Given the description of an element on the screen output the (x, y) to click on. 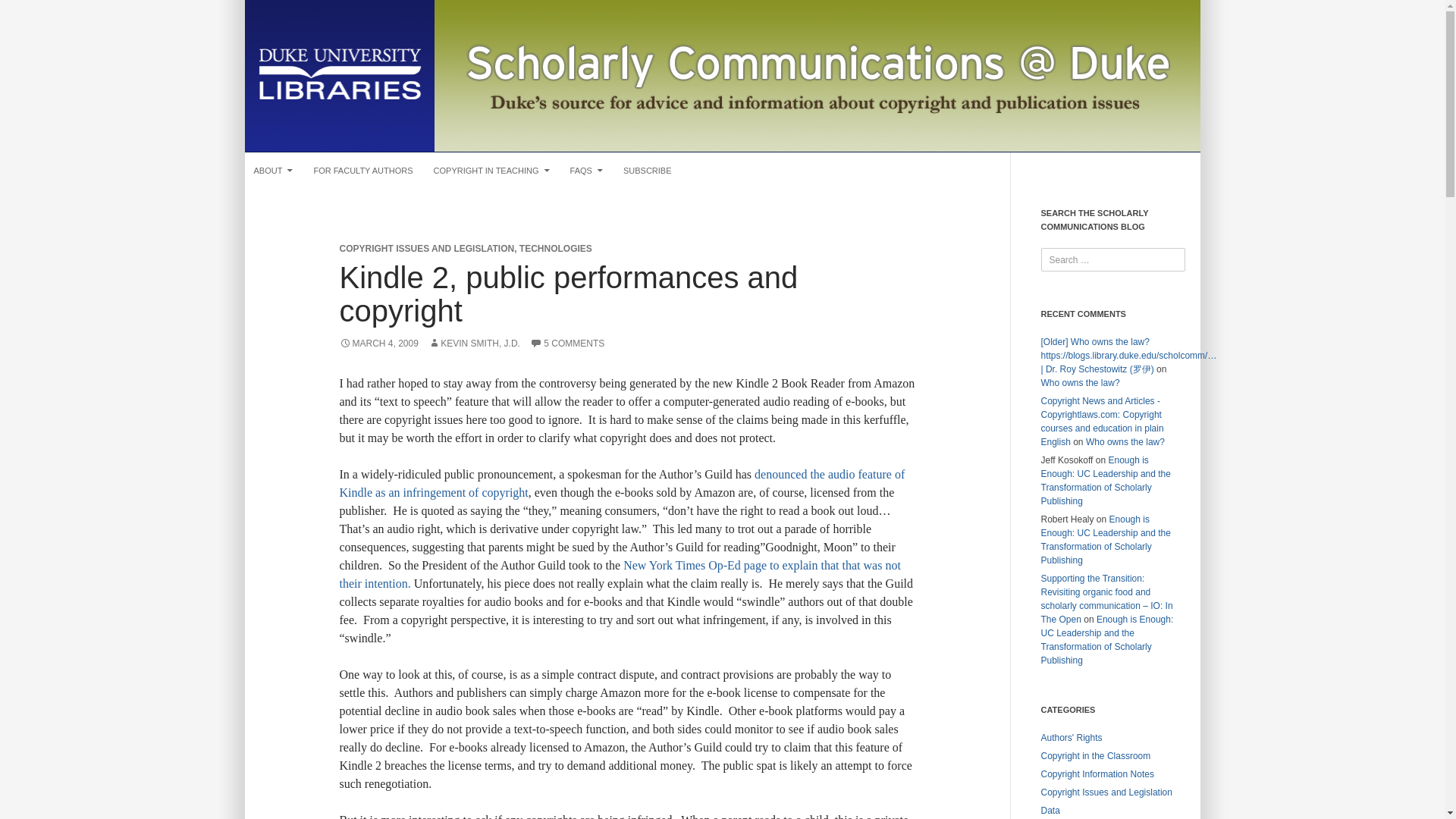
Who owns the law? (1080, 382)
MARCH 4, 2009 (379, 343)
COPYRIGHT ISSUES AND LEGISLATION (427, 248)
Who owns the law? (1125, 441)
Authors' Rights (1071, 737)
TECHNOLOGIES (555, 248)
SUBSCRIBE (647, 170)
FOR FACULTY AUTHORS (363, 170)
5 COMMENTS (566, 343)
Copyright in the Classroom (1095, 756)
FAQS (585, 170)
Search (27, 11)
